Given the description of an element on the screen output the (x, y) to click on. 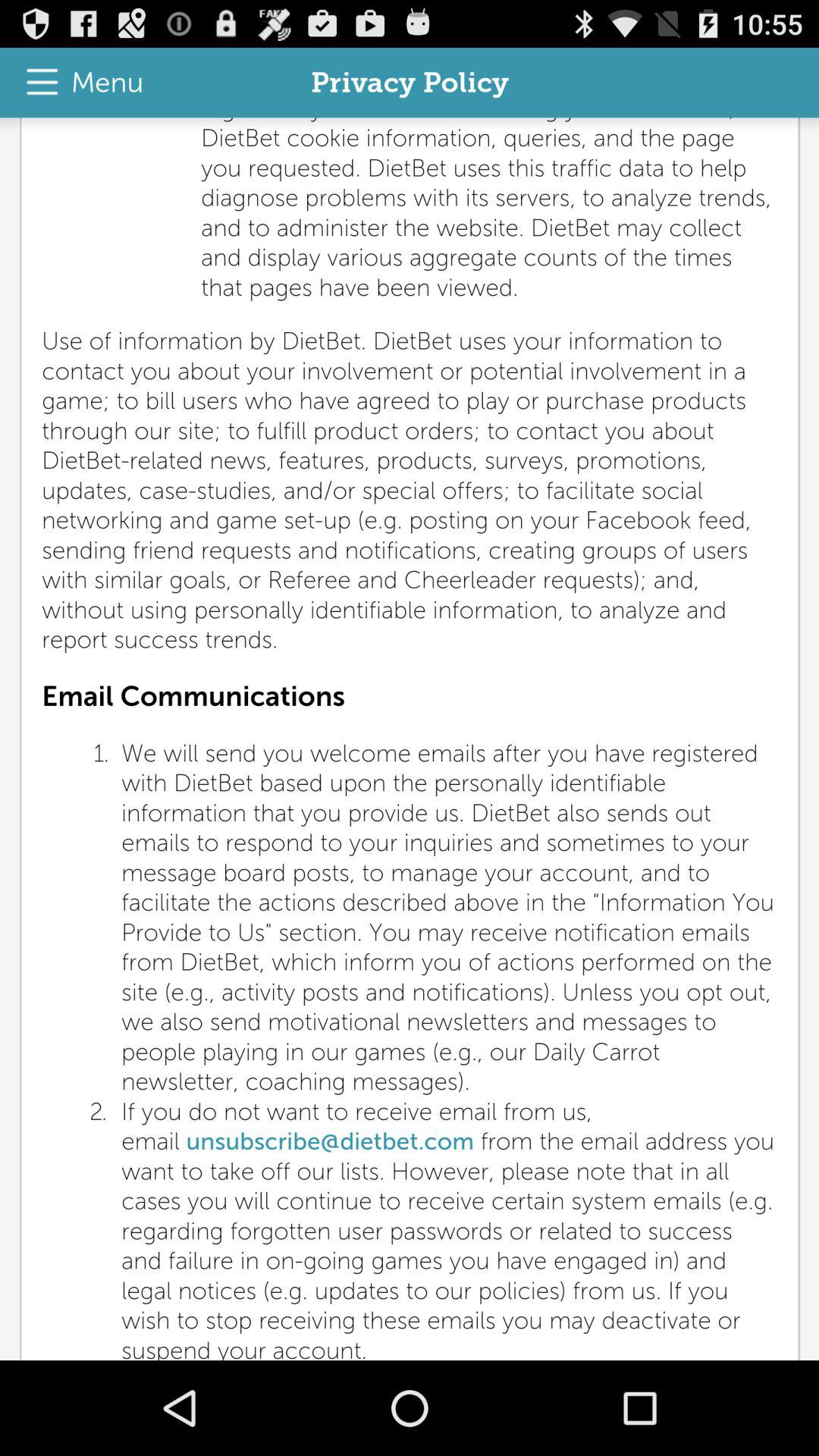
scroll to the menu icon (76, 82)
